Given the description of an element on the screen output the (x, y) to click on. 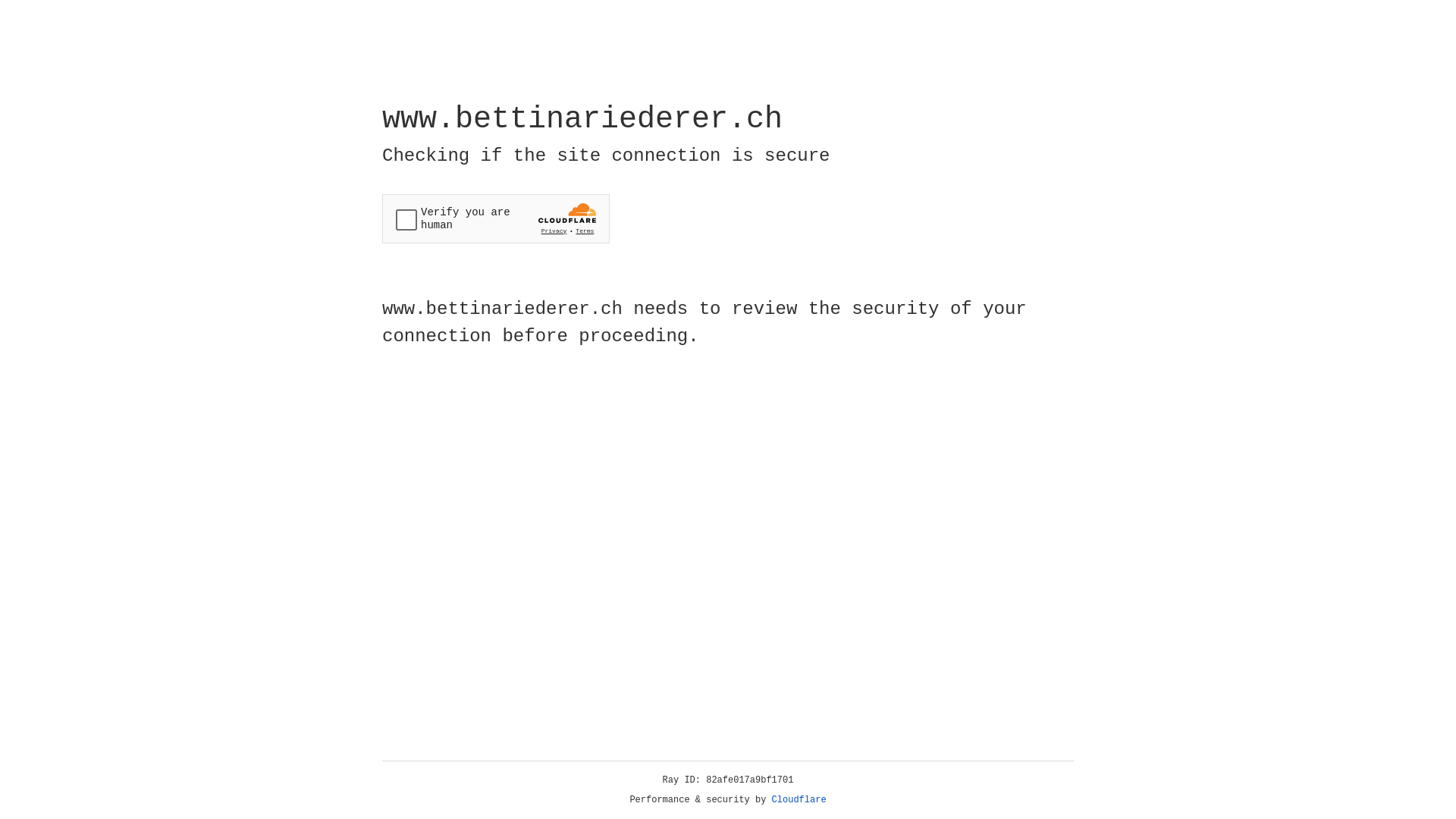
Cloudflare Element type: text (798, 799)
Widget containing a Cloudflare security challenge Element type: hover (495, 218)
